Given the description of an element on the screen output the (x, y) to click on. 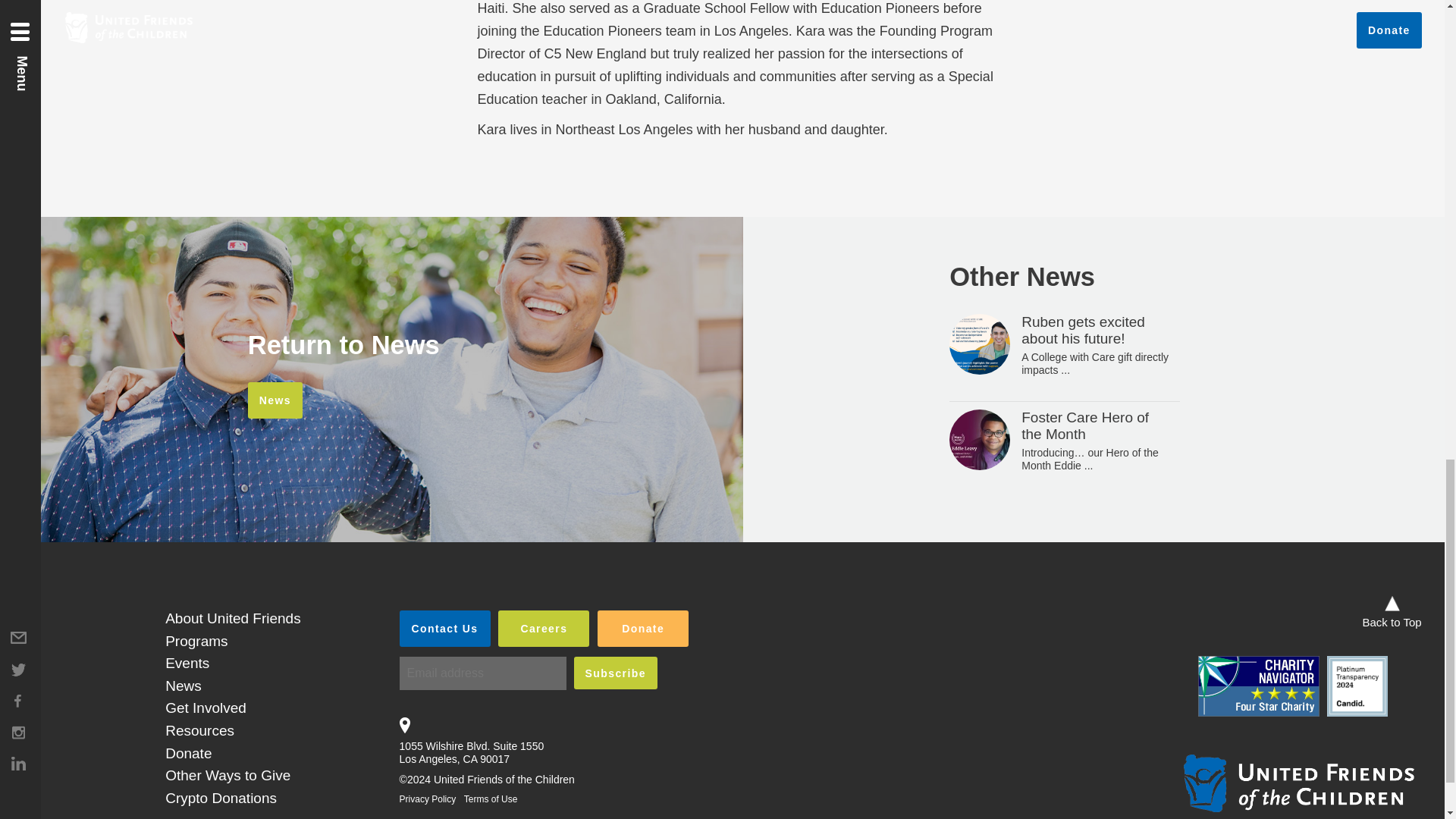
Events (187, 662)
News (274, 400)
Ruben gets excited about his future! (1083, 329)
Subscribe (615, 672)
Subscribe (615, 672)
Foster Care Hero of the Month (1085, 425)
Get Involved (205, 707)
About United Friends (233, 618)
Careers (543, 628)
Donate (642, 628)
